Given the description of an element on the screen output the (x, y) to click on. 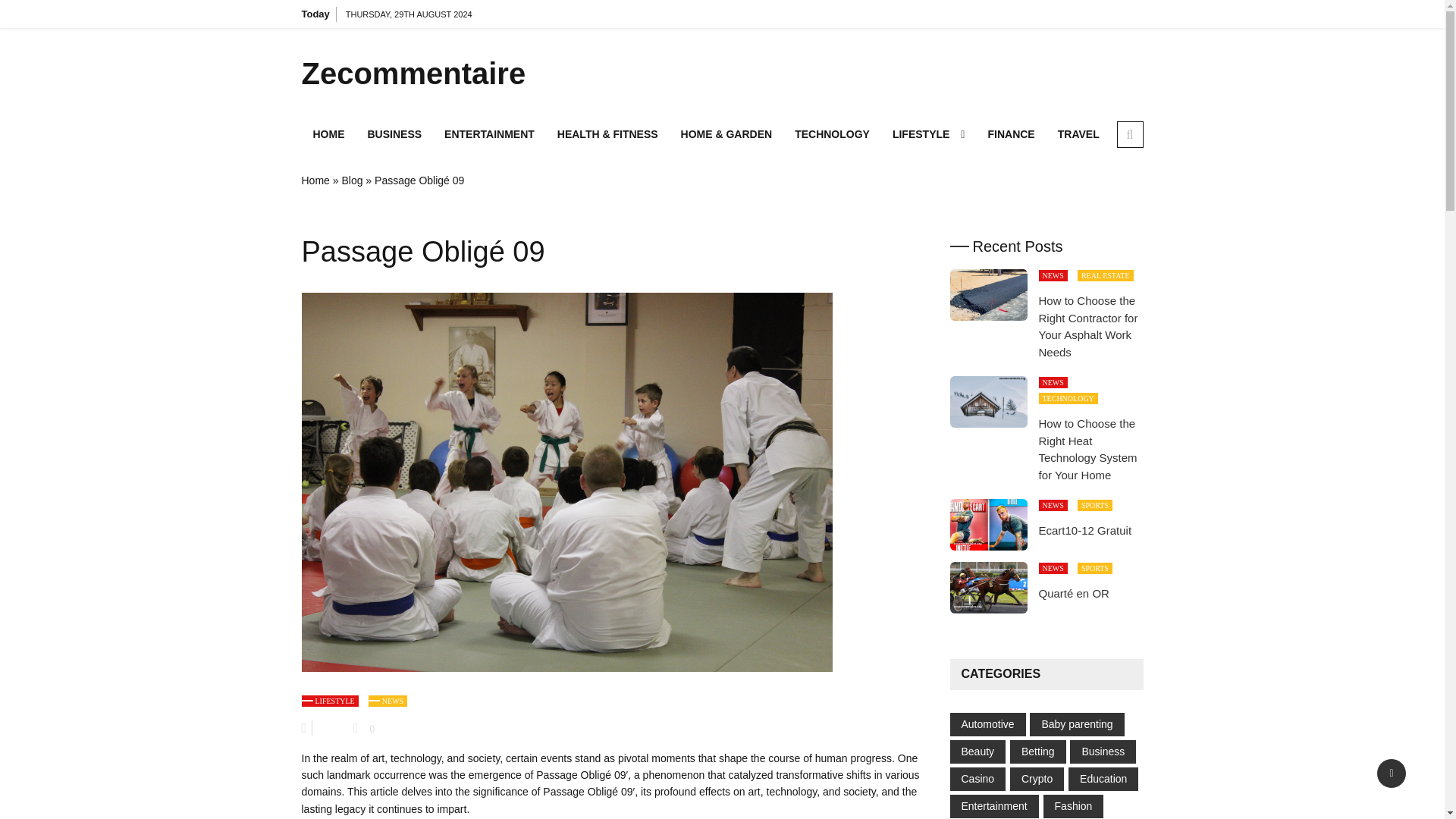
HOME (328, 133)
NEWS (387, 700)
FINANCE (1010, 133)
NEWS (1053, 275)
REAL ESTATE (1105, 275)
Zecommentaire (434, 73)
Blog (351, 180)
BUSINESS (394, 133)
TECHNOLOGY (831, 133)
Home (315, 180)
